Given the description of an element on the screen output the (x, y) to click on. 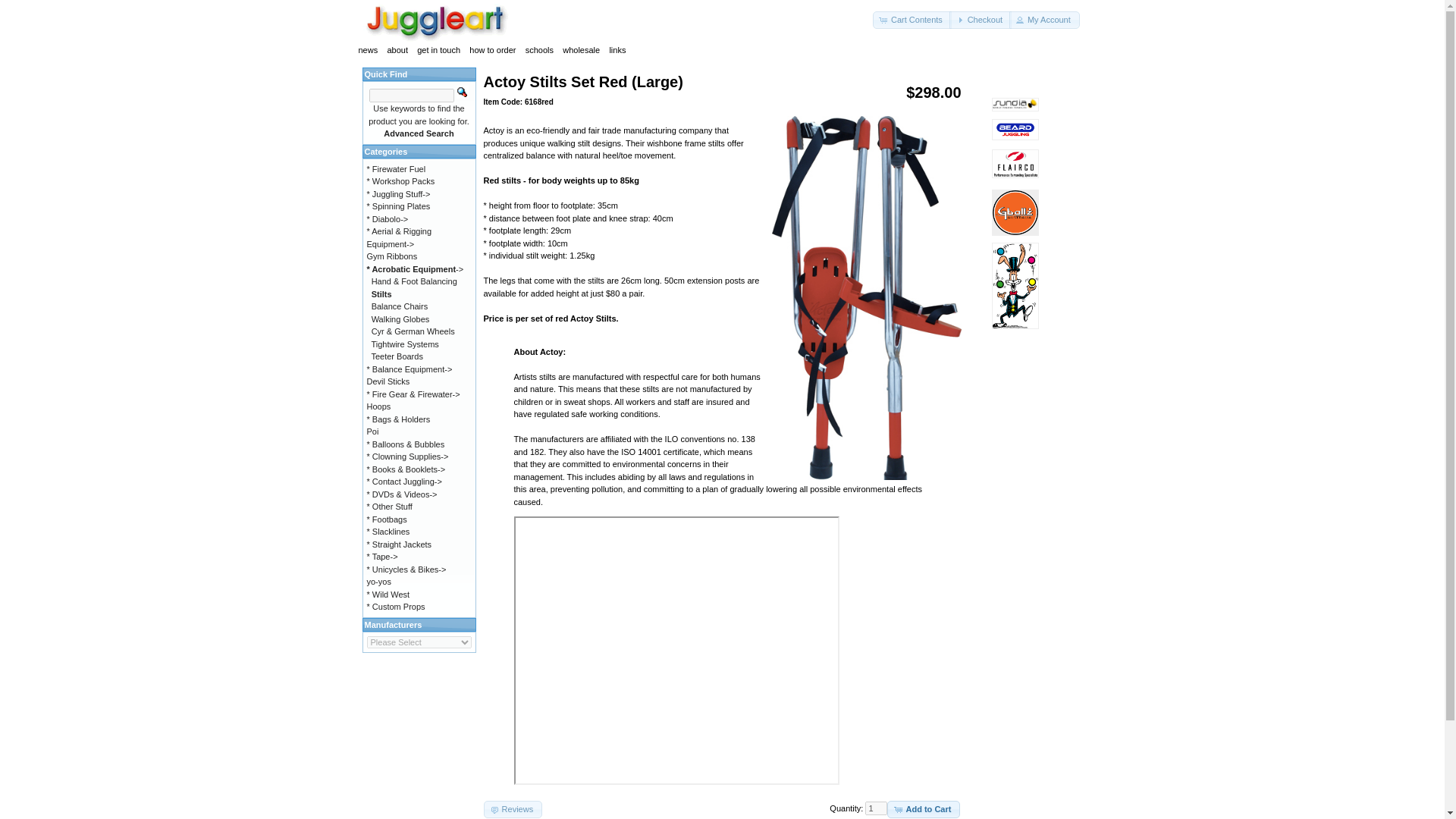
My Account (1044, 19)
Stilts (381, 293)
links (617, 49)
Advanced Search (418, 133)
Juggleart (438, 22)
1 (875, 807)
Gym Ribbons (391, 256)
how to order (491, 49)
Reviews (513, 809)
Walking Globes (400, 317)
wholesale (580, 49)
Checkout (980, 19)
Cart Contents (912, 19)
news (367, 49)
about (397, 49)
